Given the description of an element on the screen output the (x, y) to click on. 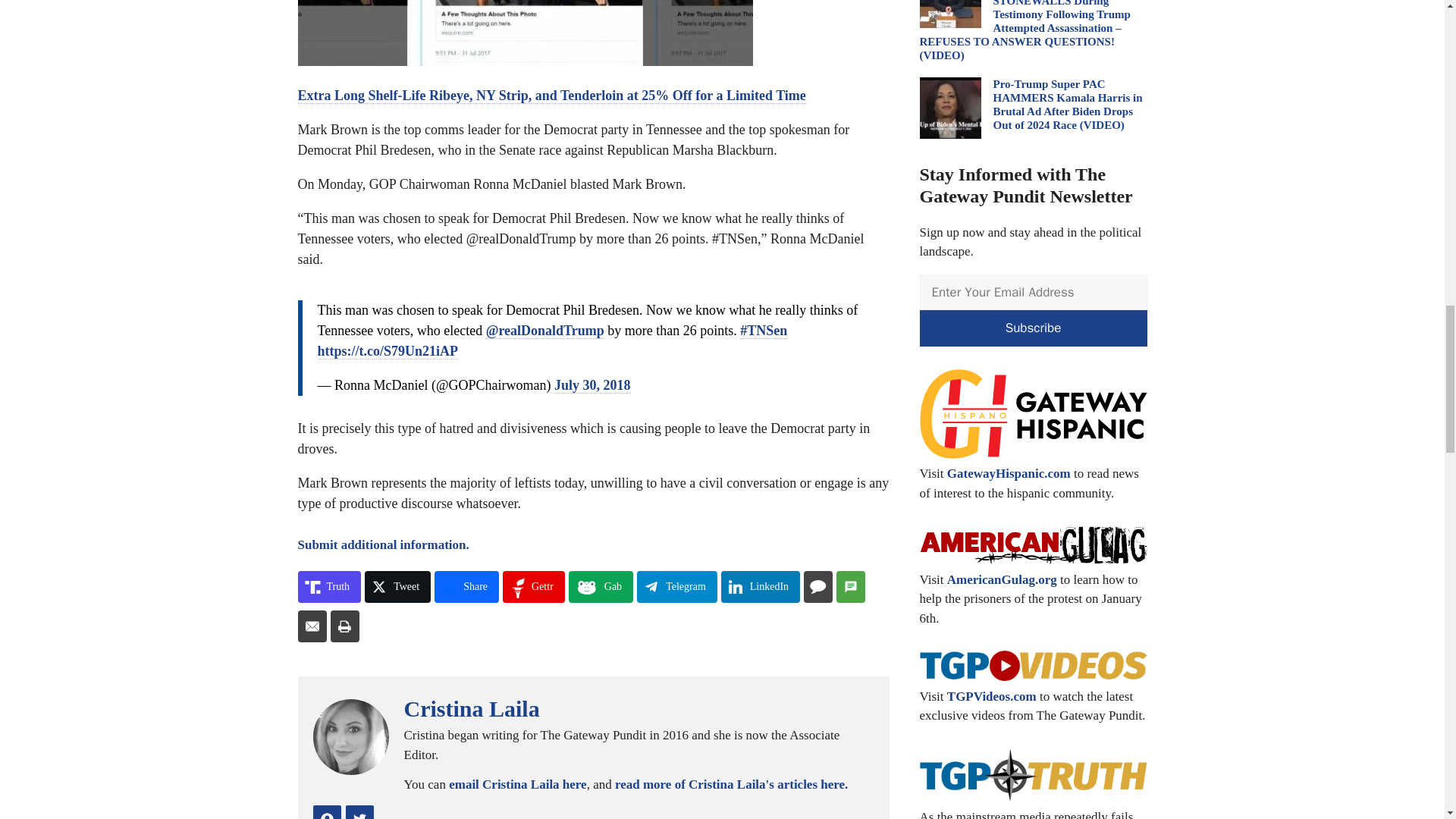
Subscribe (1032, 328)
